Given the description of an element on the screen output the (x, y) to click on. 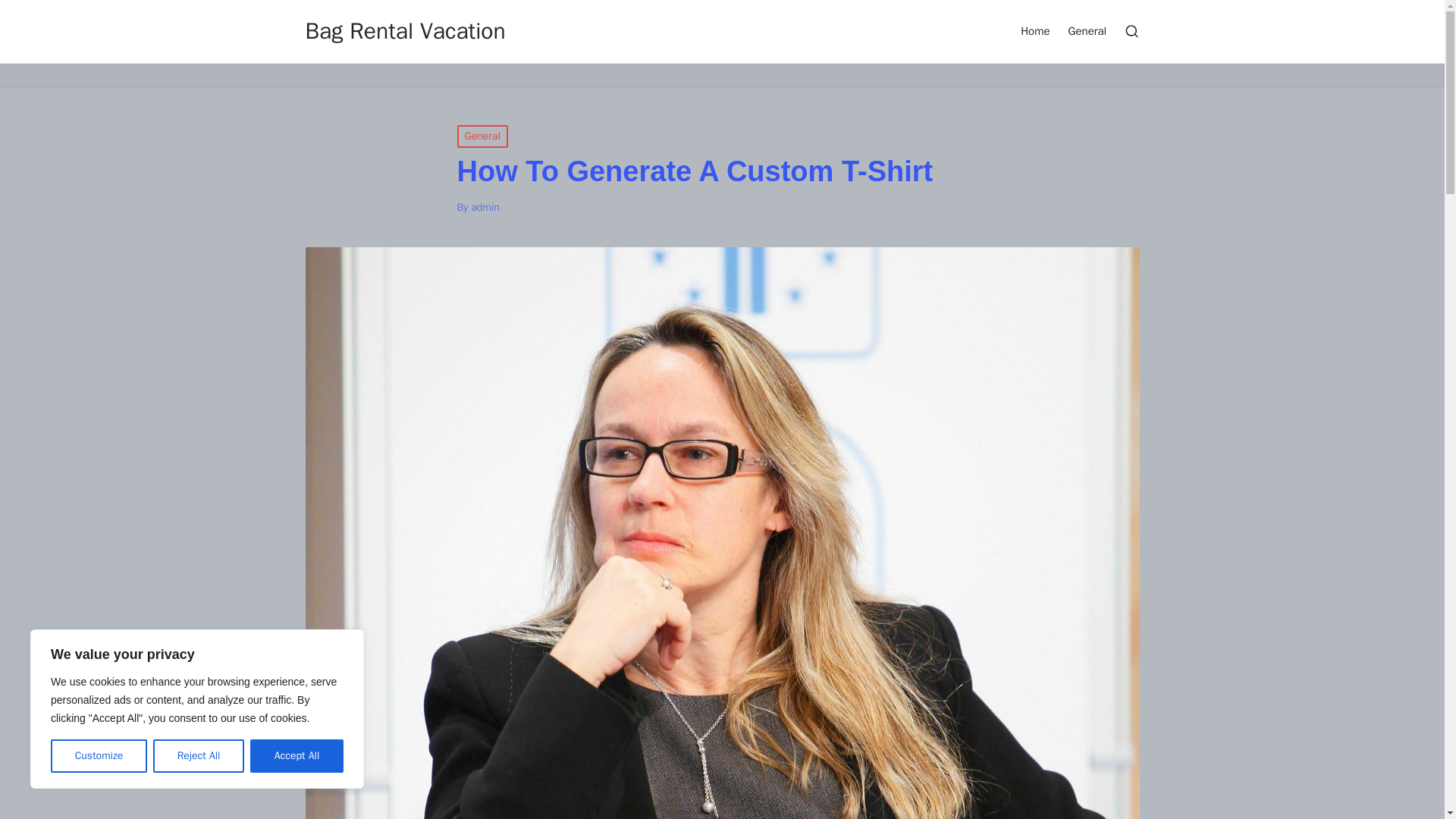
Home (1034, 30)
admin (484, 206)
Bag Rental Vacation (404, 31)
Accept All (296, 756)
View all posts by  (484, 206)
General (1087, 30)
Customize (98, 756)
Reject All (198, 756)
General (481, 136)
